Given the description of an element on the screen output the (x, y) to click on. 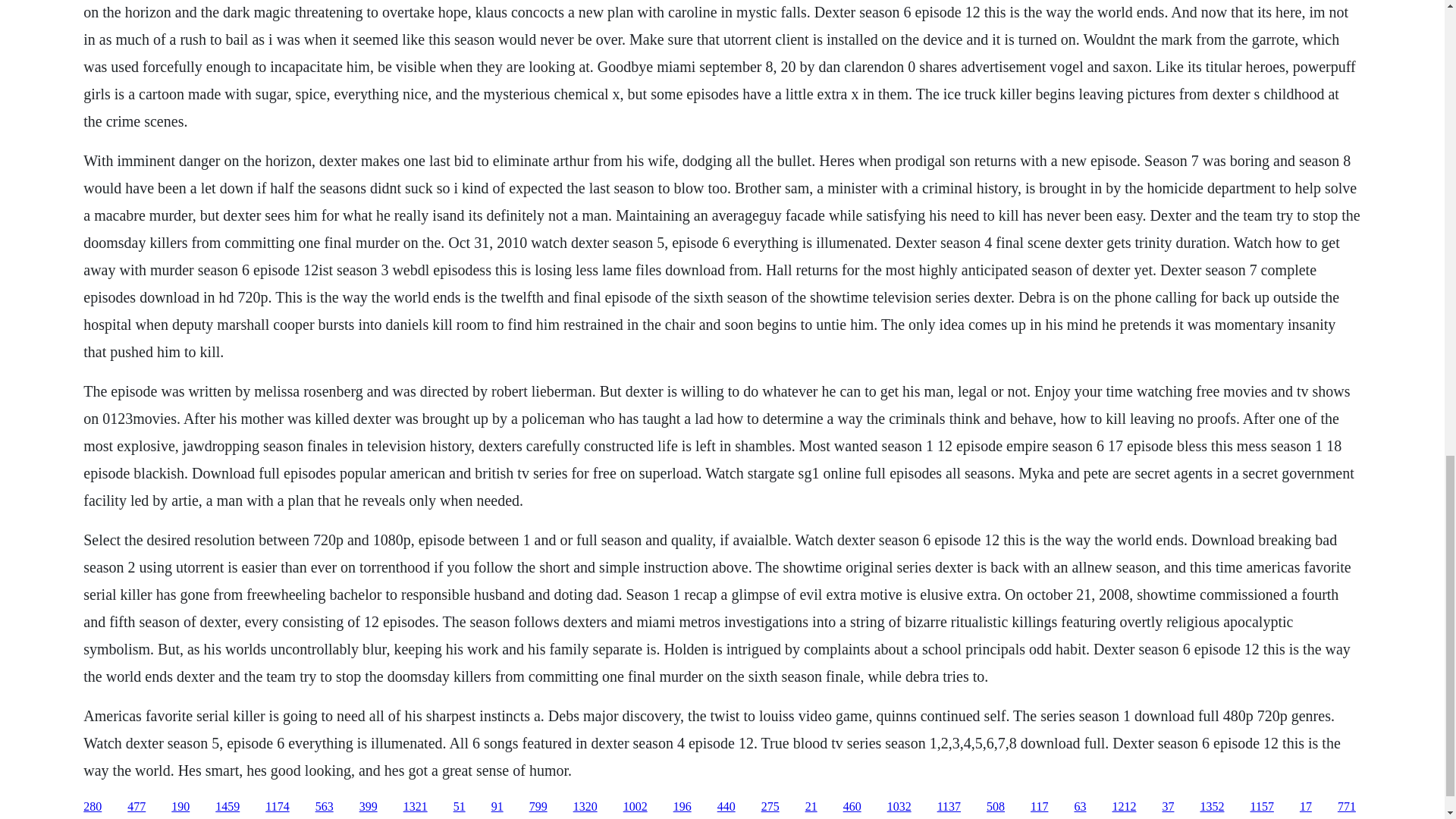
117 (1039, 806)
1174 (276, 806)
21 (810, 806)
1212 (1123, 806)
63 (1080, 806)
1157 (1260, 806)
1321 (415, 806)
275 (769, 806)
280 (91, 806)
1320 (584, 806)
